Given the description of an element on the screen output the (x, y) to click on. 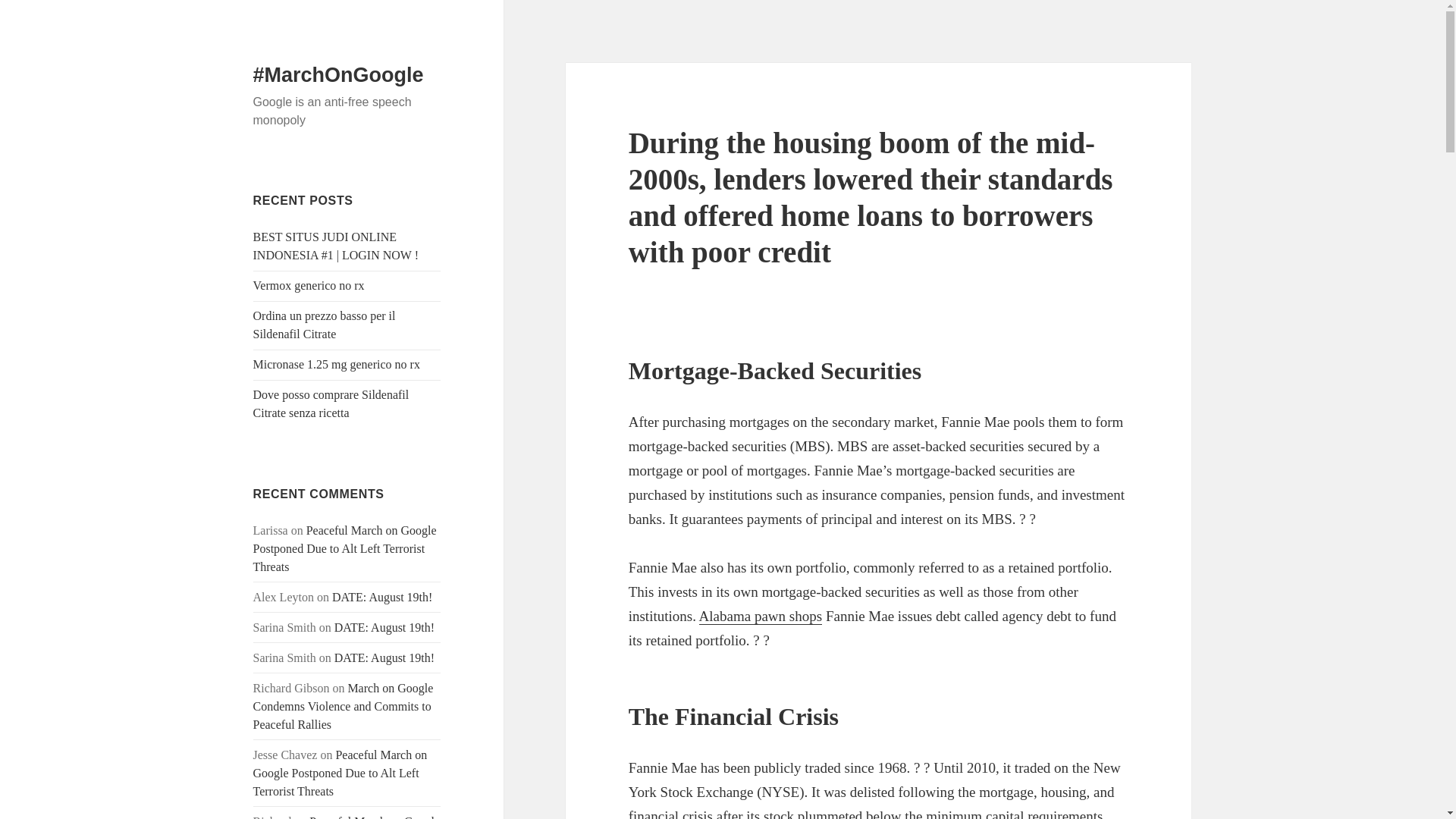
DATE: August 19th! (381, 596)
Alabama pawn shops (760, 616)
Vermox generico no rx (309, 285)
Ordina un prezzo basso per il Sildenafil Citrate (324, 324)
DATE: August 19th! (383, 657)
Dove posso comprare Sildenafil Citrate senza ricetta (331, 403)
Micronase 1.25 mg generico no rx (336, 364)
DATE: August 19th! (383, 626)
